Given the description of an element on the screen output the (x, y) to click on. 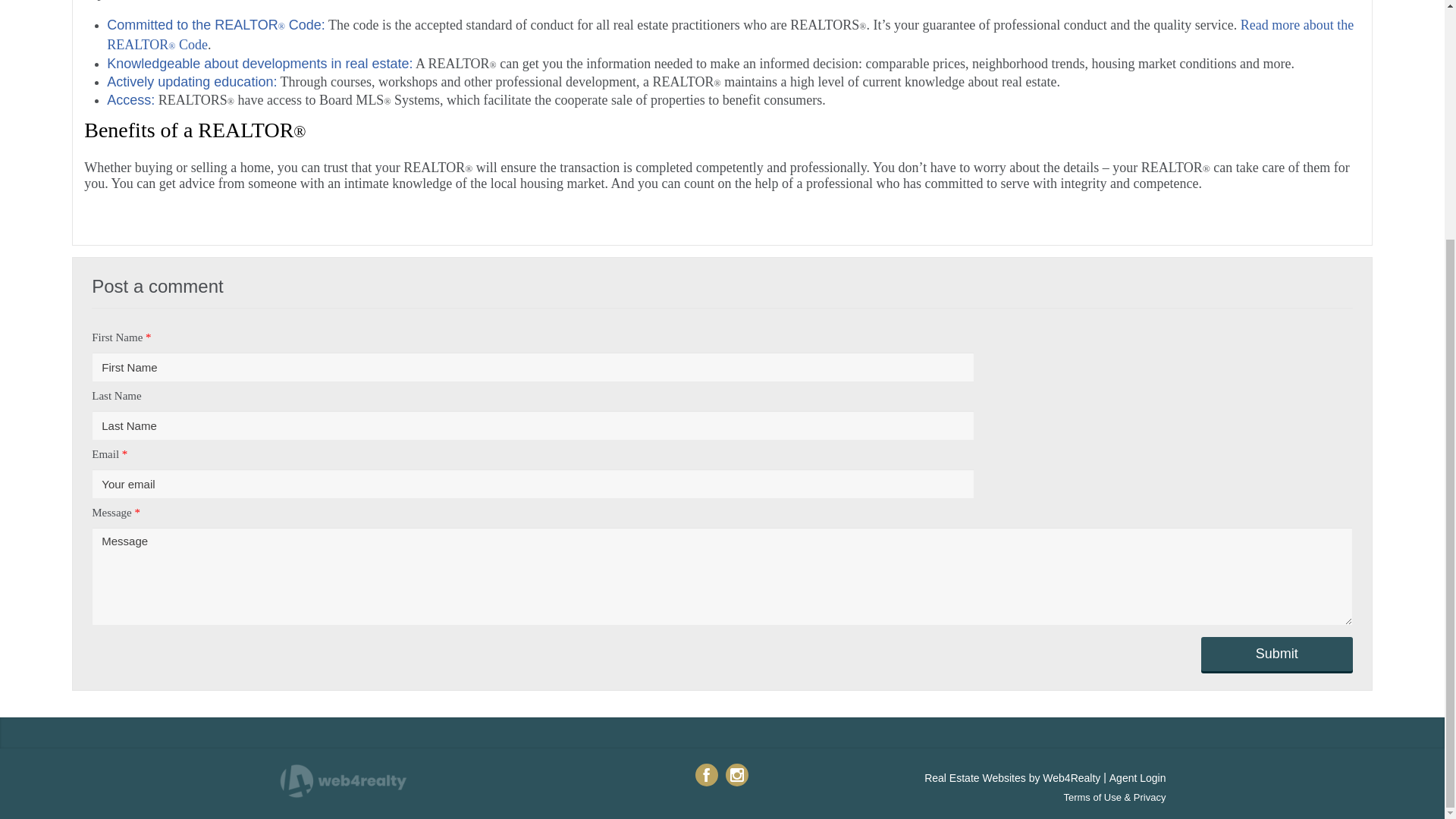
Agent Login (1137, 777)
Submit (1276, 653)
Real Estate Websites by Web4Realty (1012, 777)
